Given the description of an element on the screen output the (x, y) to click on. 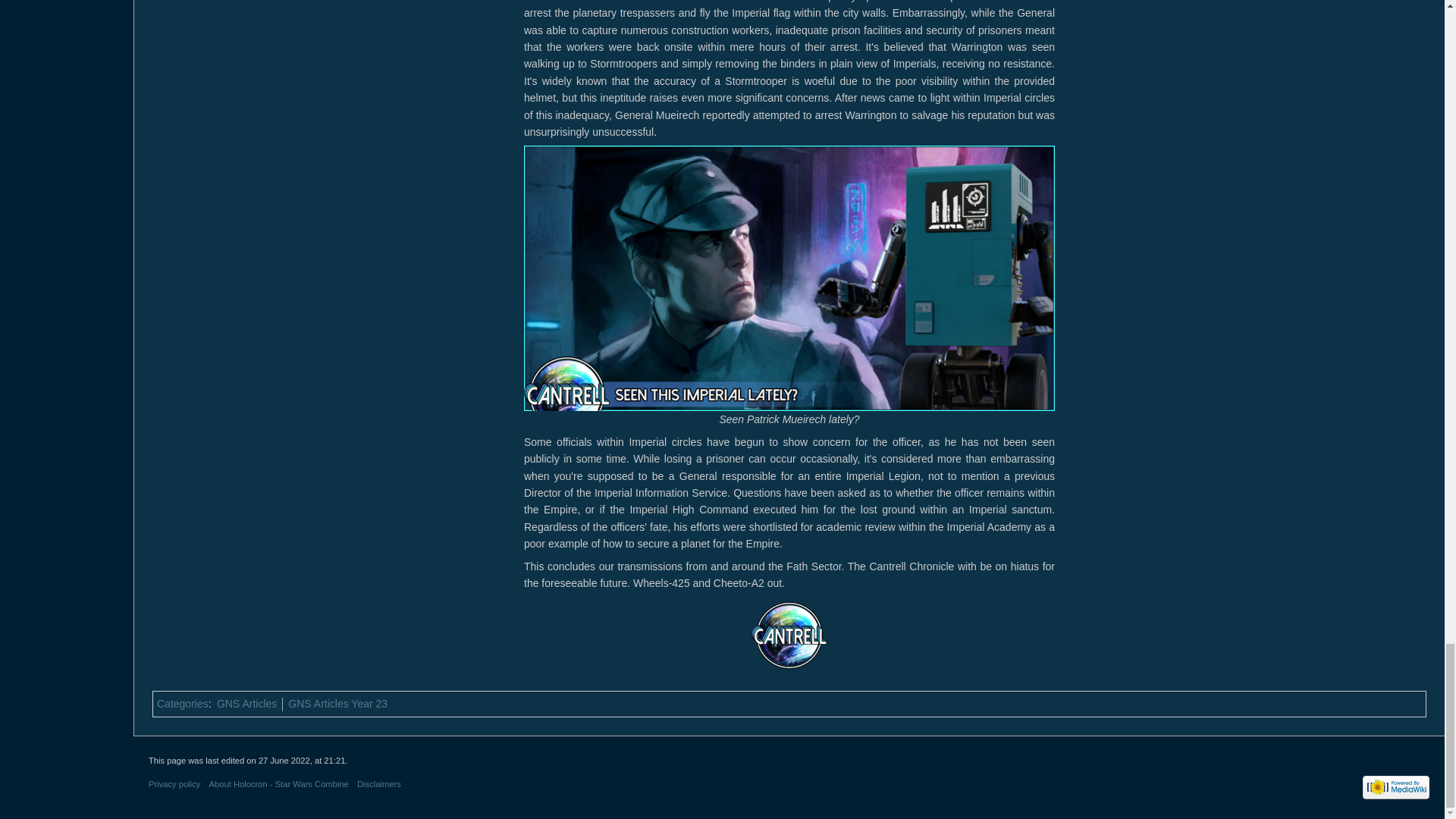
Special:Categories (182, 703)
Category:GNS Articles (246, 703)
Category:GNS Articles Year 23 (337, 703)
Categories (182, 703)
GNS Articles Year 23 (337, 703)
GNS Articles (246, 703)
